Given the description of an element on the screen output the (x, y) to click on. 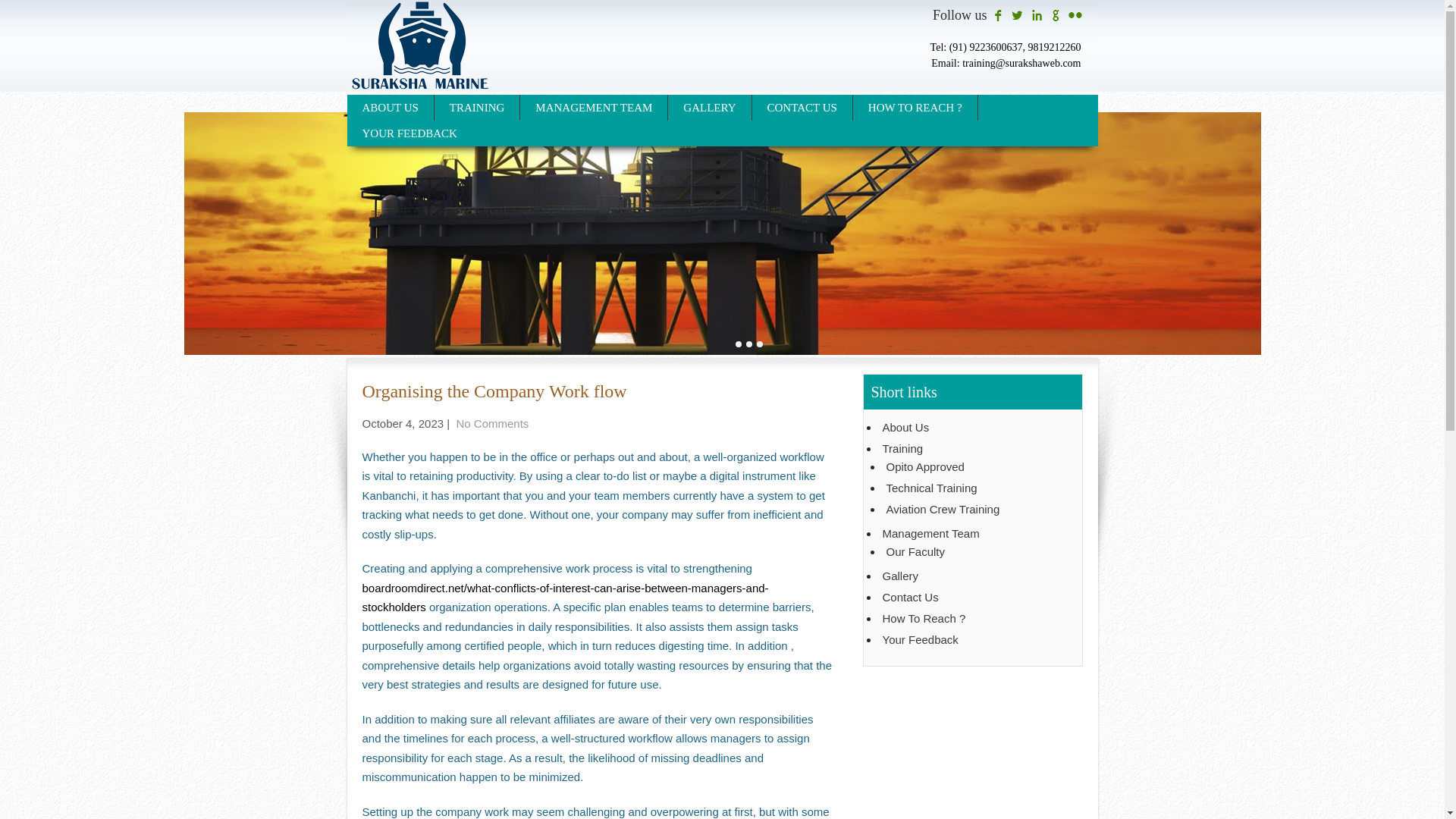
3 (759, 344)
Management Team (974, 533)
GALLERY (709, 107)
HOW TO REACH ? (915, 107)
Opito Approved (975, 467)
How To Reach ? (974, 618)
Aviation Crew Training (975, 509)
Contact Us (974, 597)
ABOUT US (390, 107)
About Us (974, 427)
